Given the description of an element on the screen output the (x, y) to click on. 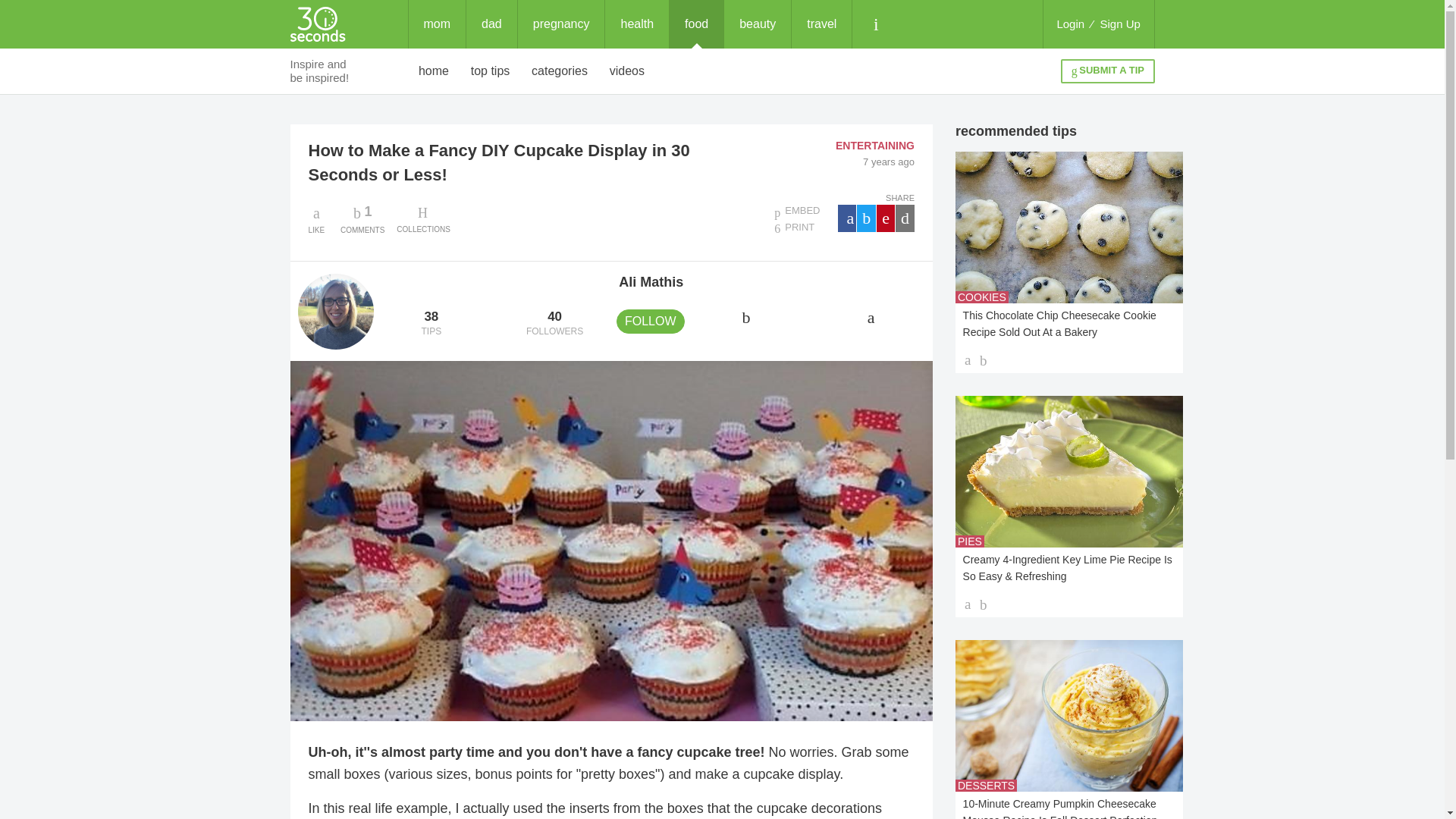
beauty (756, 24)
categories (559, 71)
top tips (489, 71)
health (636, 24)
travel (821, 24)
Sign Up (1120, 23)
Login (1069, 23)
mom (362, 218)
home (436, 24)
pregnancy (433, 71)
dad (561, 24)
food (490, 24)
